Given the description of an element on the screen output the (x, y) to click on. 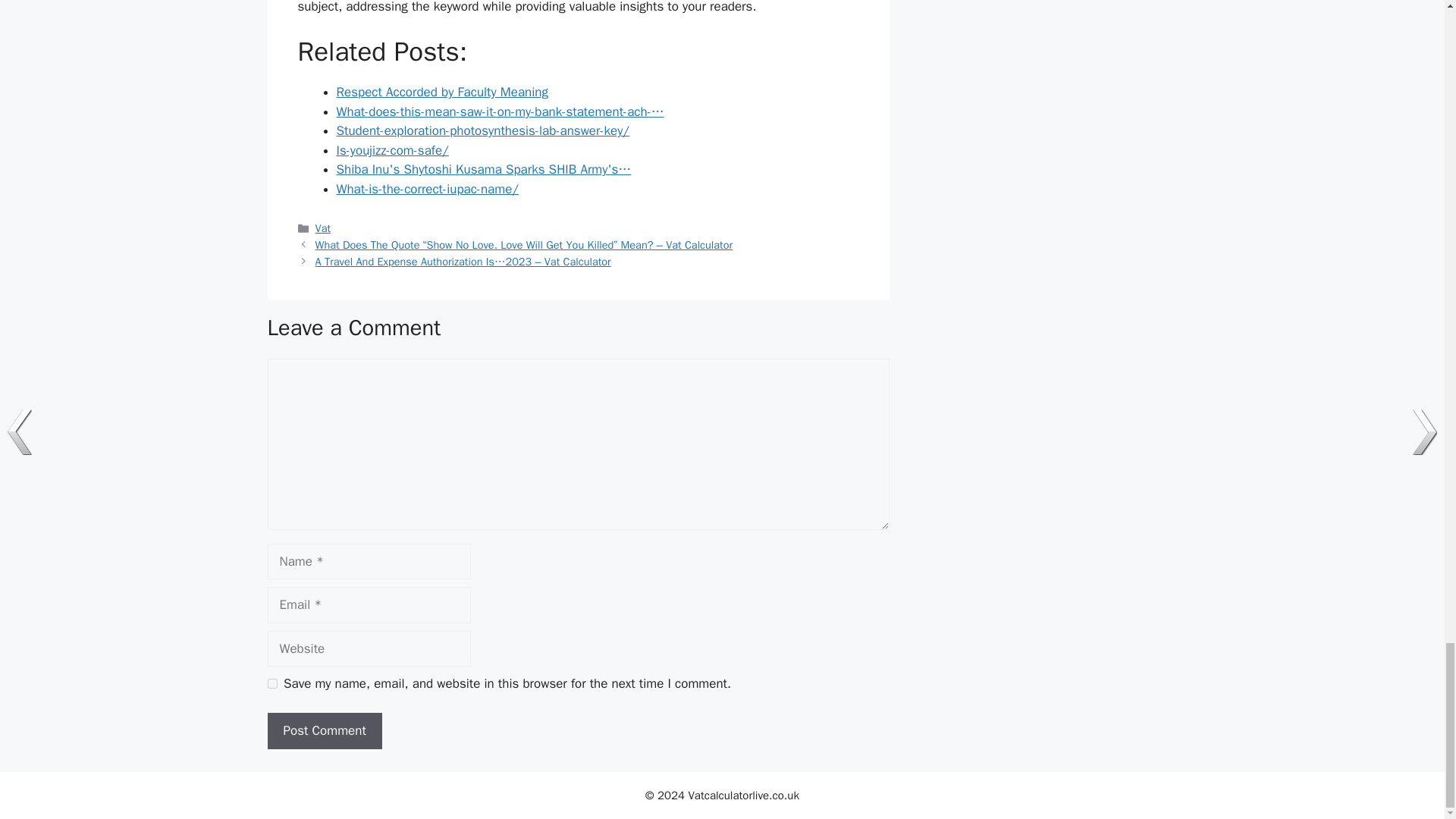
Vat (322, 228)
Post Comment (323, 730)
Post Comment (323, 730)
Respect Accorded by Faculty Meaning (442, 91)
yes (271, 683)
